Given the description of an element on the screen output the (x, y) to click on. 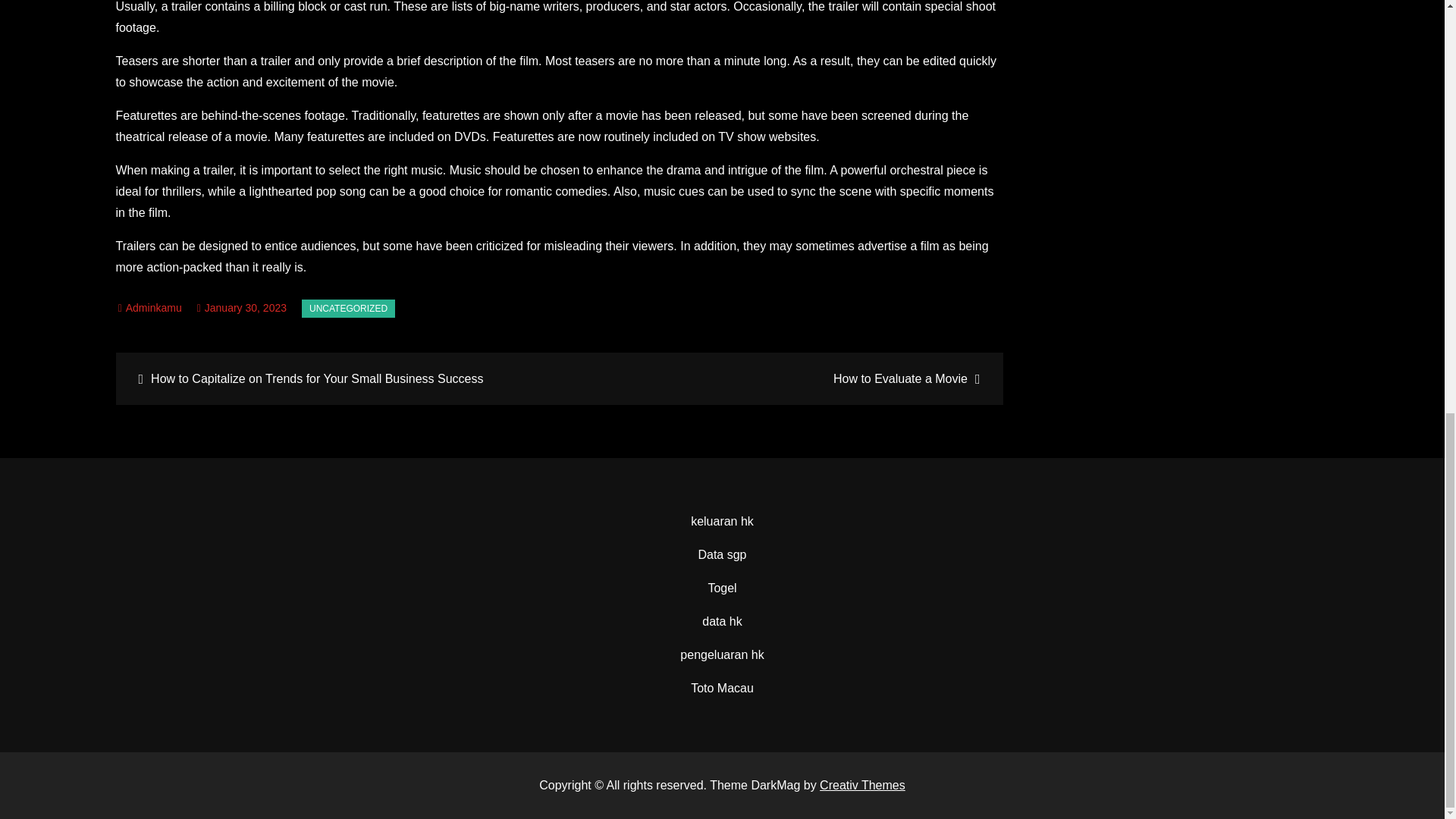
keluaran hk (722, 521)
data hk (721, 621)
UNCATEGORIZED (347, 308)
How to Evaluate a Movie (778, 378)
Toto Macau (722, 687)
Data sgp (721, 554)
Creativ Themes (862, 784)
pengeluaran hk (720, 654)
How to Capitalize on Trends for Your Small Business Success (339, 378)
Adminkamu (149, 307)
Togel (721, 587)
January 30, 2023 (241, 307)
